Given the description of an element on the screen output the (x, y) to click on. 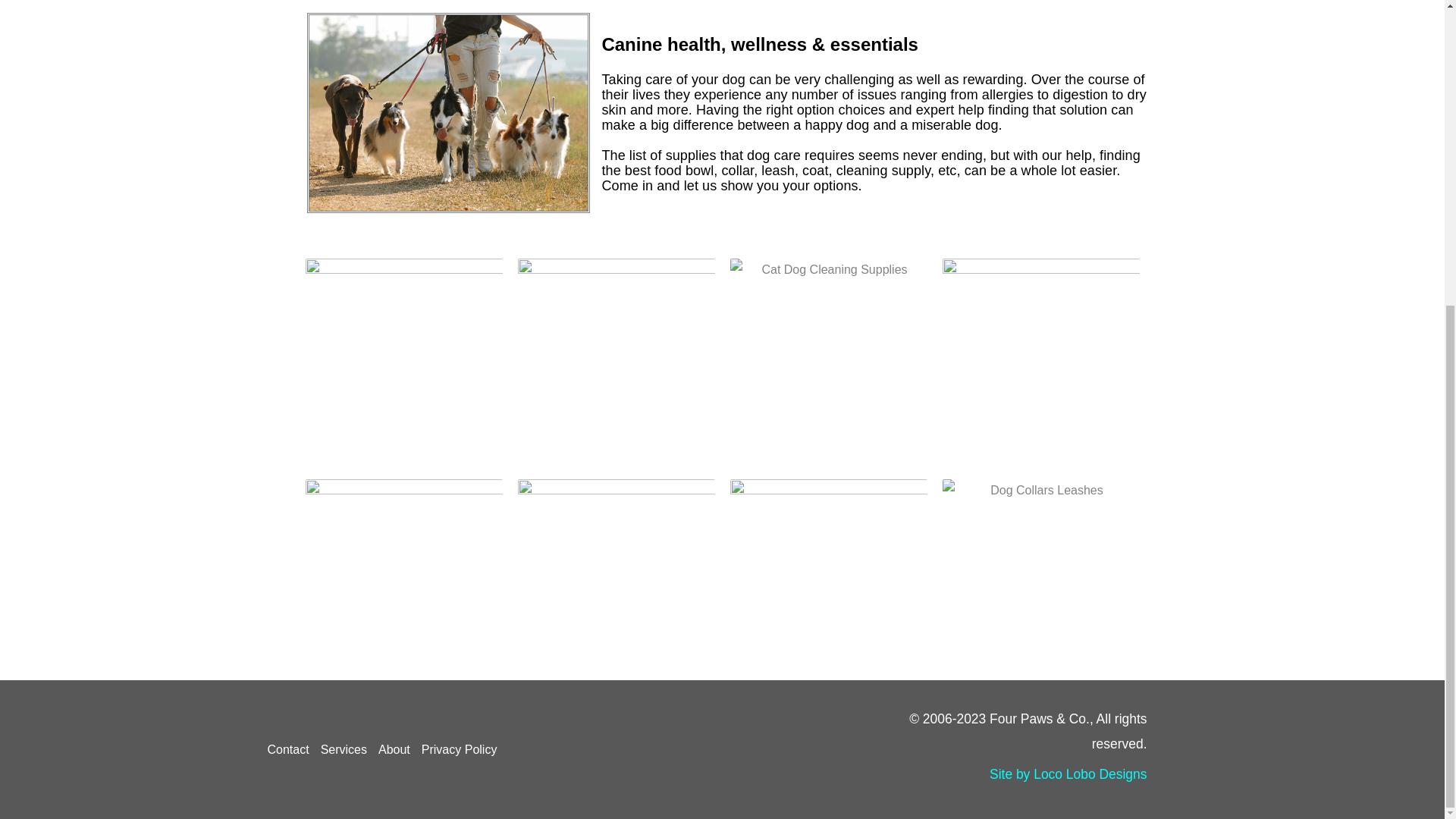
Services (349, 749)
Privacy Policy (465, 749)
Contact (293, 749)
About (400, 749)
